Given the description of an element on the screen output the (x, y) to click on. 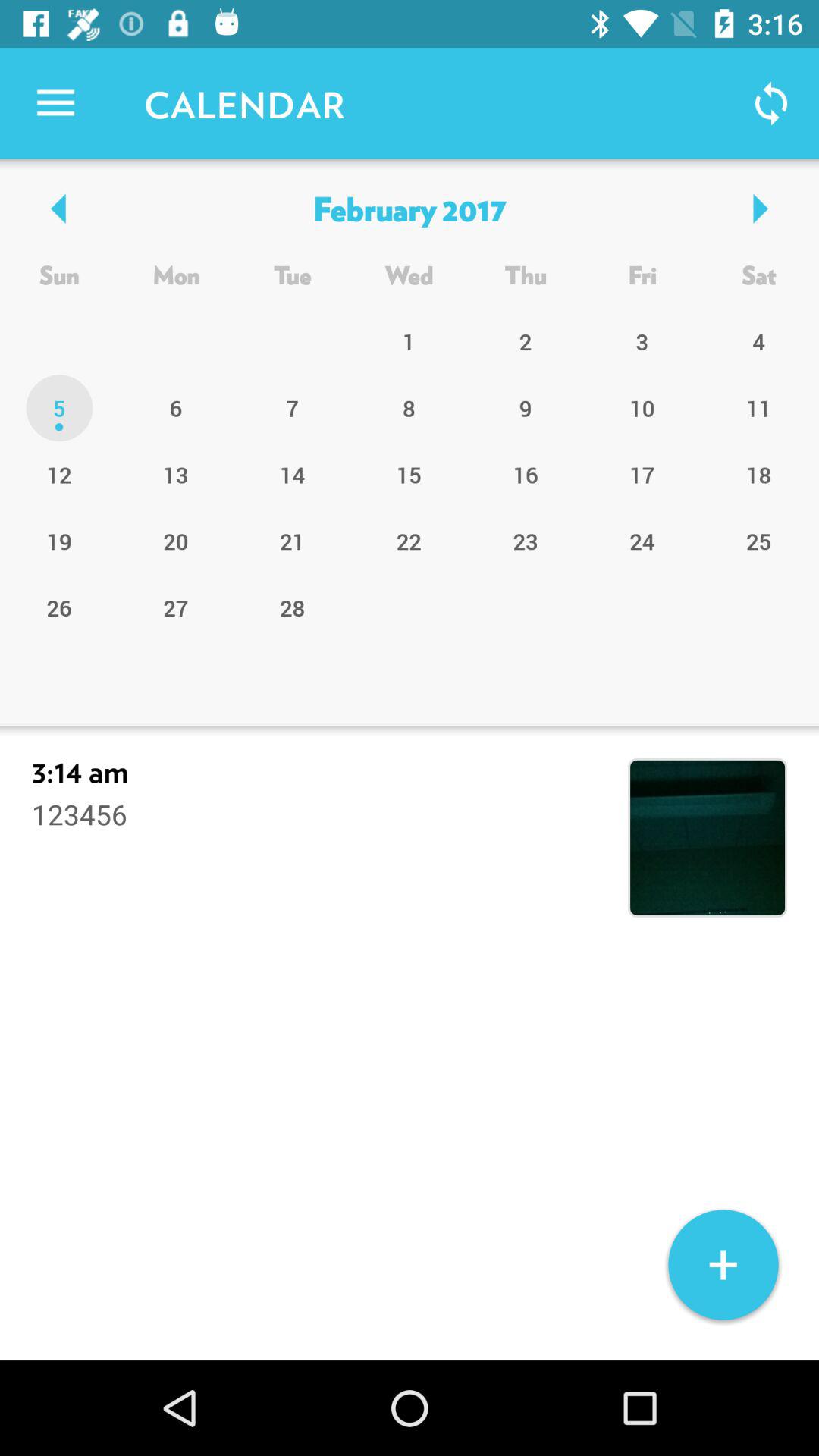
press 26 icon (59, 607)
